Given the description of an element on the screen output the (x, y) to click on. 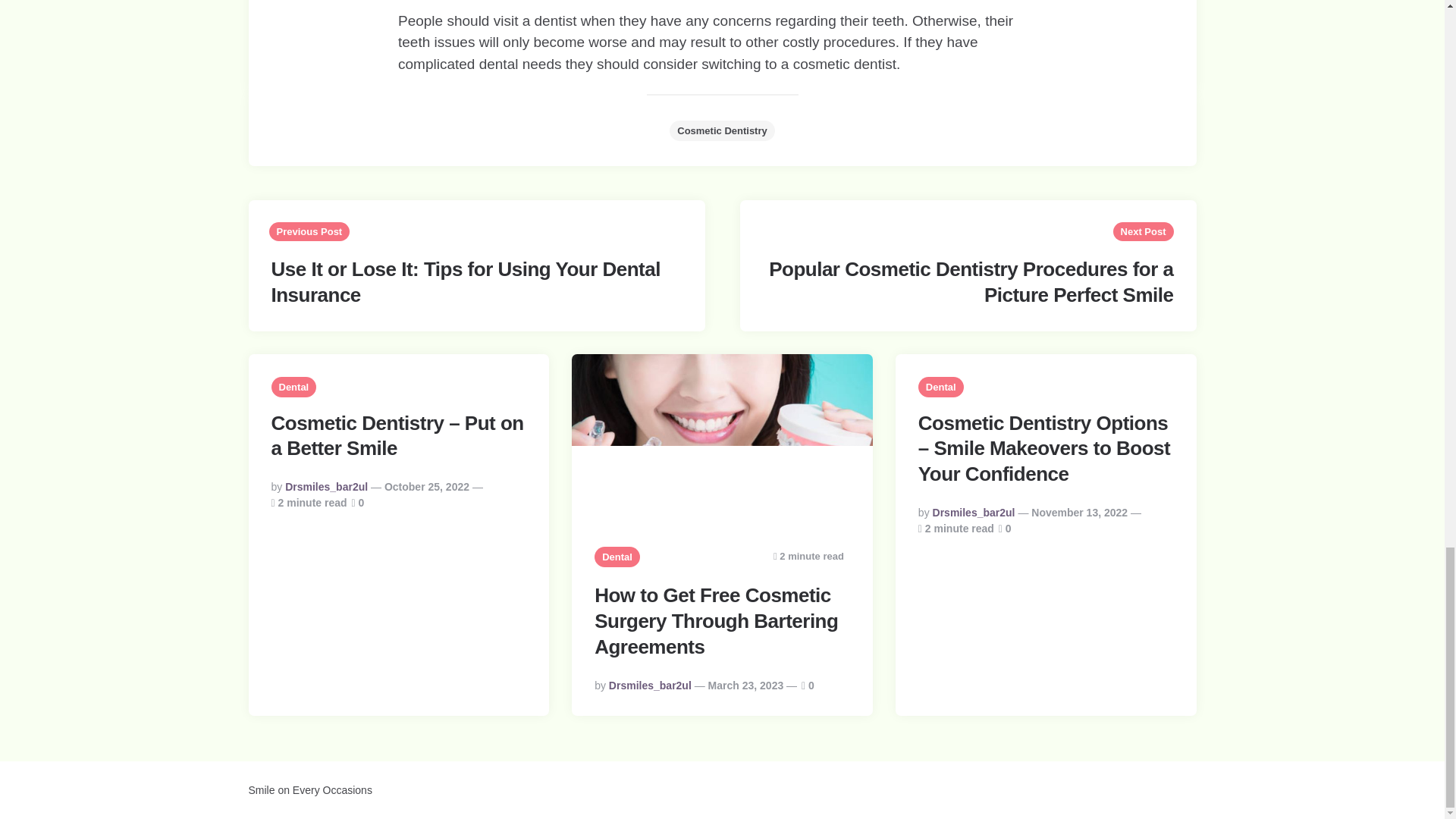
Dental (617, 557)
Use It or Lose It: Tips for Using Your Dental Insurance (465, 281)
Cosmetic Dentistry (721, 130)
Dental (940, 386)
Dental (293, 386)
